Given the description of an element on the screen output the (x, y) to click on. 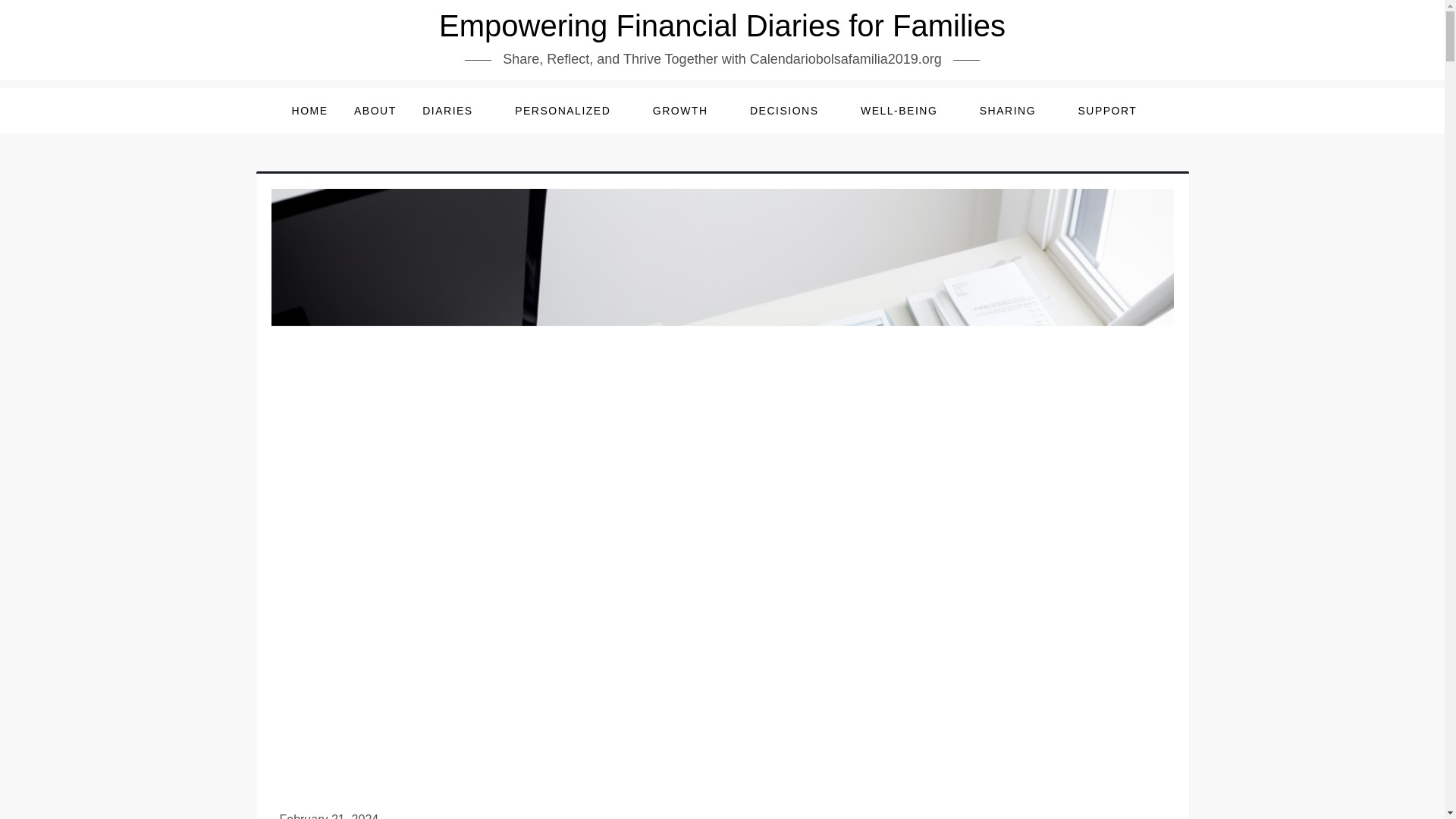
DIARIES (455, 110)
ABOUT (374, 110)
DECISIONS (791, 110)
GROWTH (688, 110)
February 21, 2024 (328, 816)
WELL-BEING (905, 110)
Empowering Financial Diaries for Families (722, 25)
PERSONALIZED (570, 110)
HOME (310, 110)
SUPPORT (1114, 110)
